Given the description of an element on the screen output the (x, y) to click on. 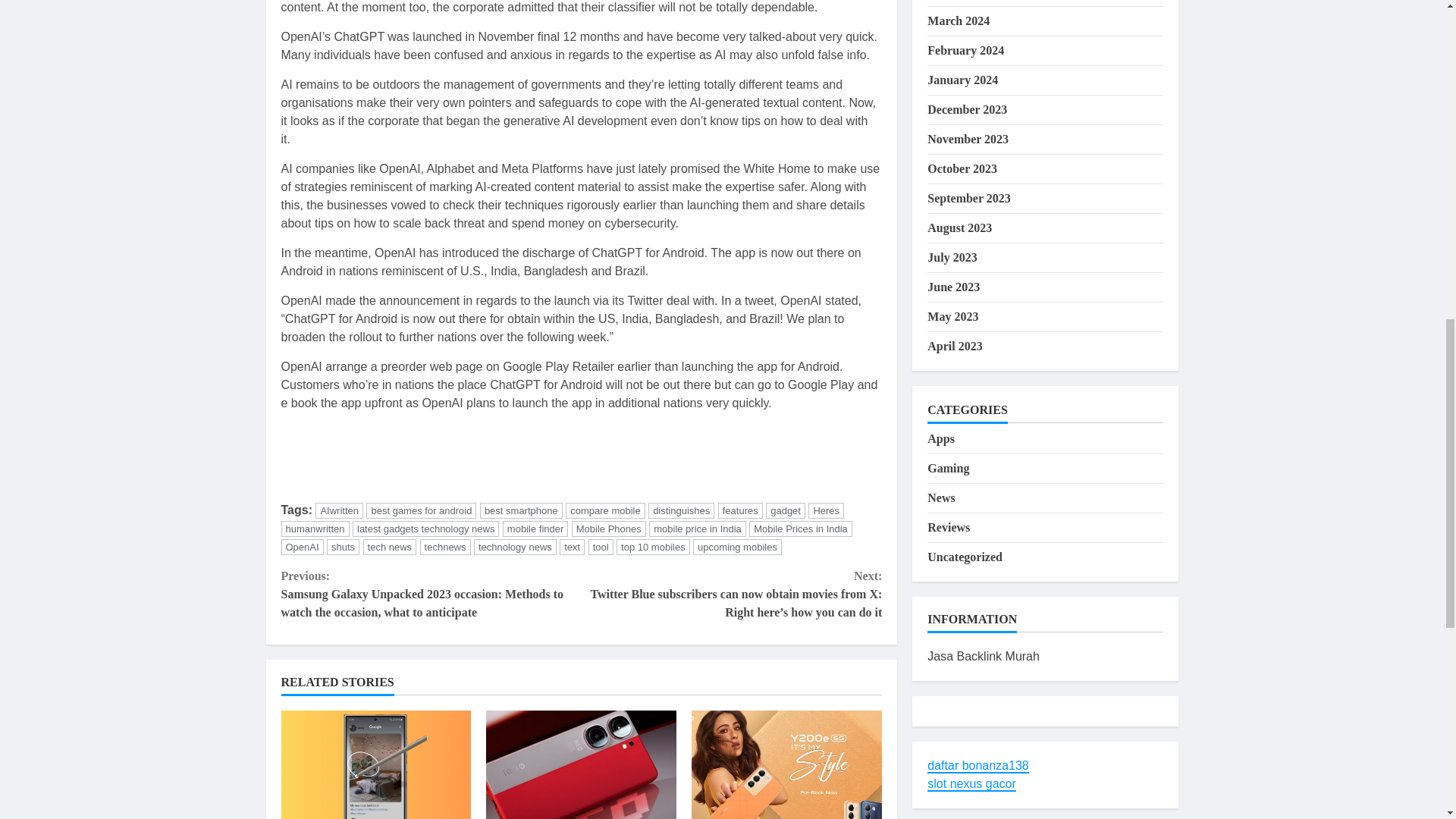
features (739, 510)
humanwritten (315, 528)
best smartphone (521, 510)
OpenAI (302, 546)
Heres (826, 510)
mobile finder (534, 528)
latest gadgets technology news (425, 528)
mobile price in India (697, 528)
AIwritten (338, 510)
shuts (342, 546)
best games for android (421, 510)
distinguishes (680, 510)
Mobile Phones (609, 528)
compare mobile (605, 510)
